Given the description of an element on the screen output the (x, y) to click on. 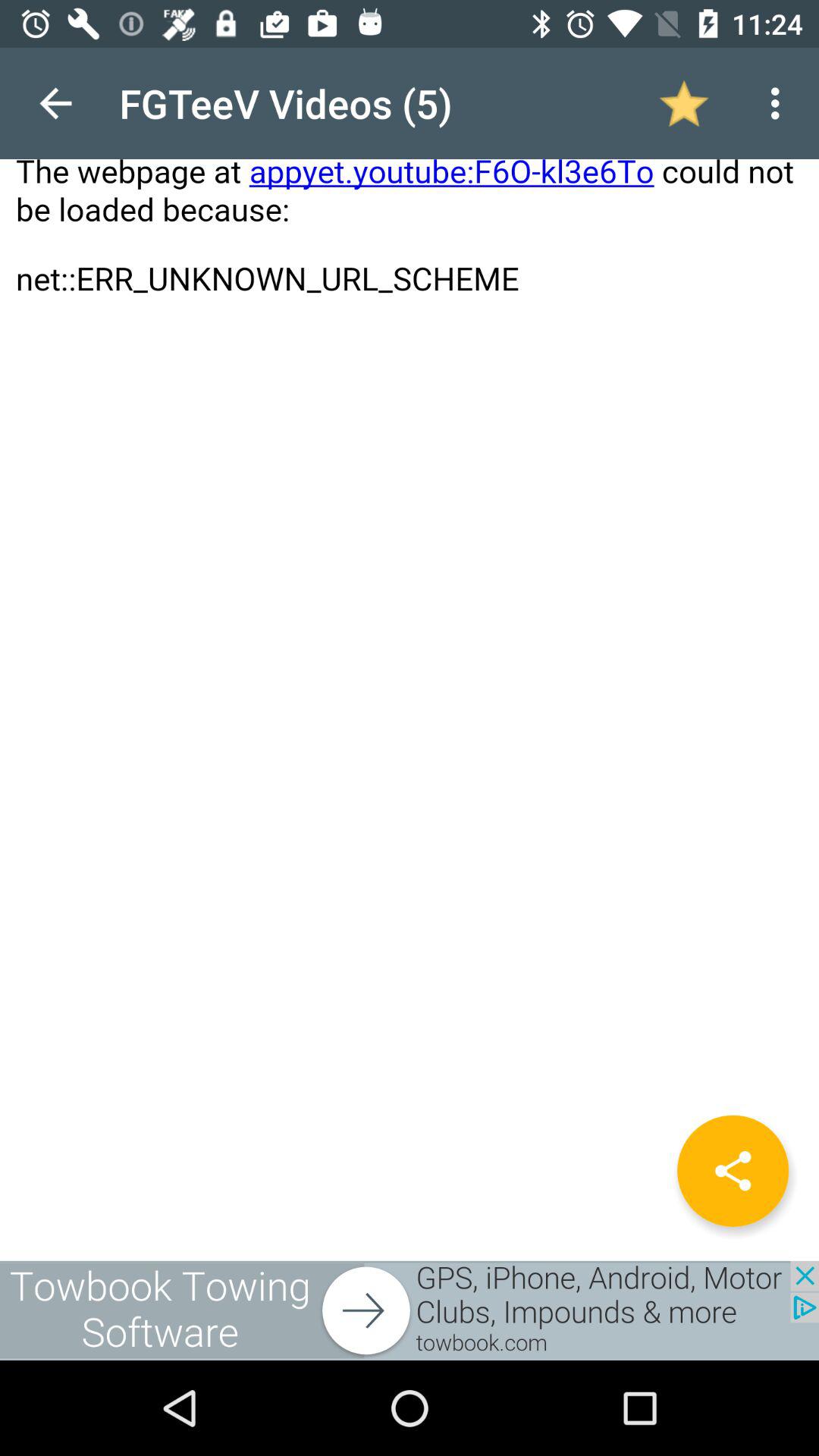
share the file (733, 1171)
